Given the description of an element on the screen output the (x, y) to click on. 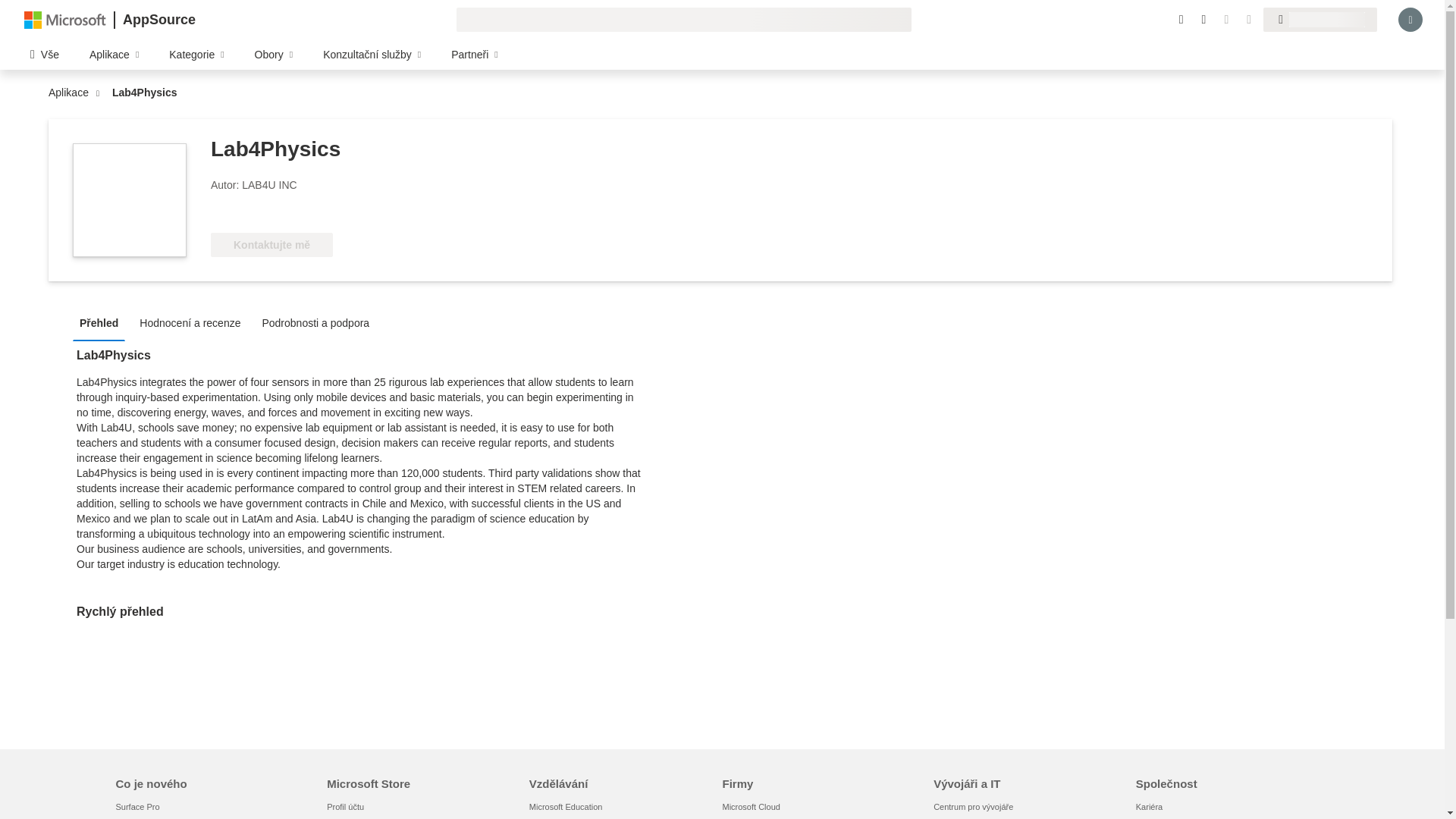
Podrobnosti a podpora (319, 322)
Surface Pro (136, 806)
Microsoft Education (565, 806)
Aplikace (72, 92)
AppSource (158, 19)
Microsoft (65, 18)
